Given the description of an element on the screen output the (x, y) to click on. 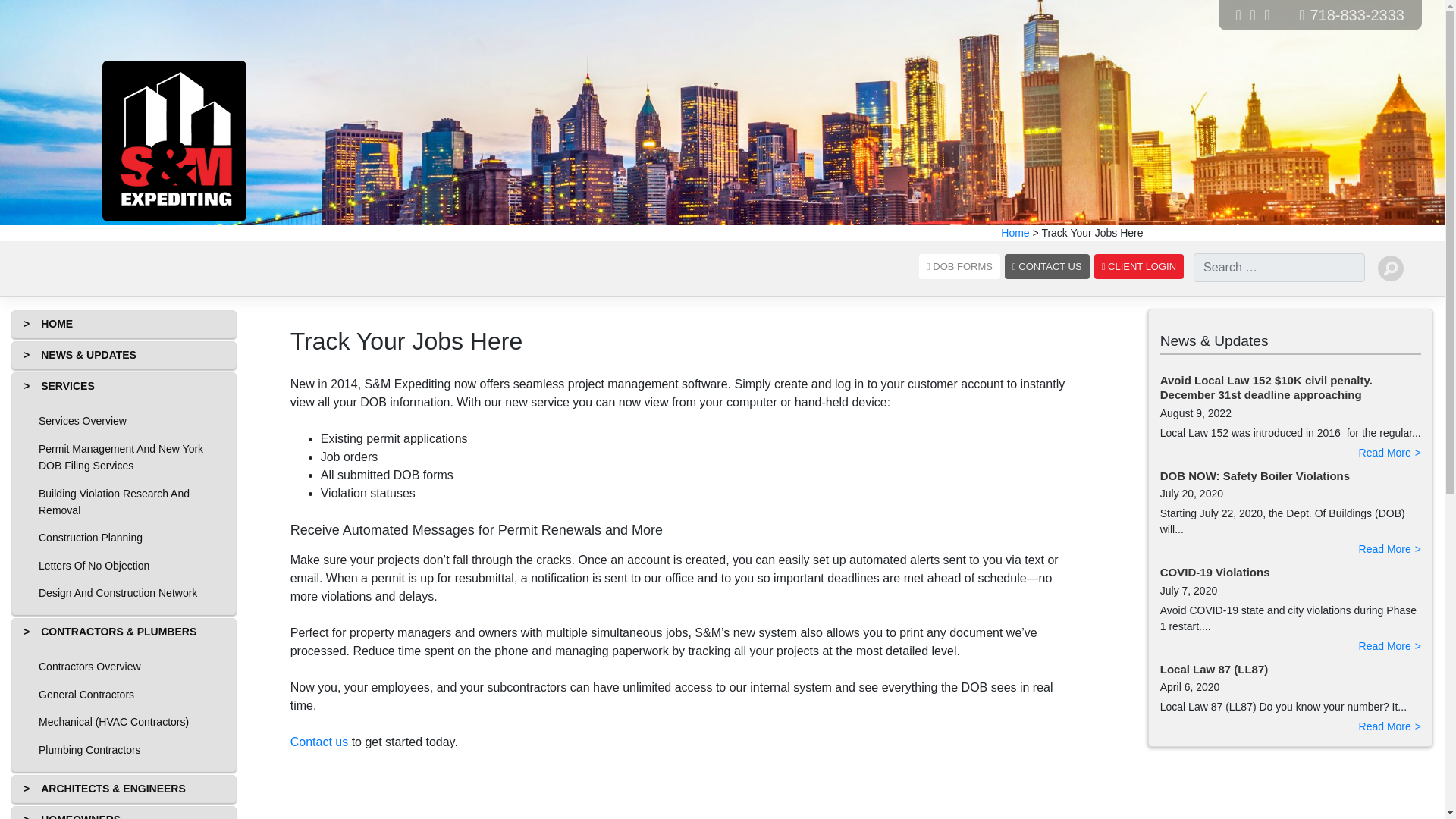
COVID-19 Violations (1214, 571)
Letters of No Objection (123, 565)
Search for: (1279, 267)
HOME (123, 324)
Services Overview (123, 420)
SERVICES (123, 386)
Contractors Overview (123, 666)
Home (123, 324)
Design and Construction Network (123, 592)
Plumbing Contractors (123, 749)
